Given the description of an element on the screen output the (x, y) to click on. 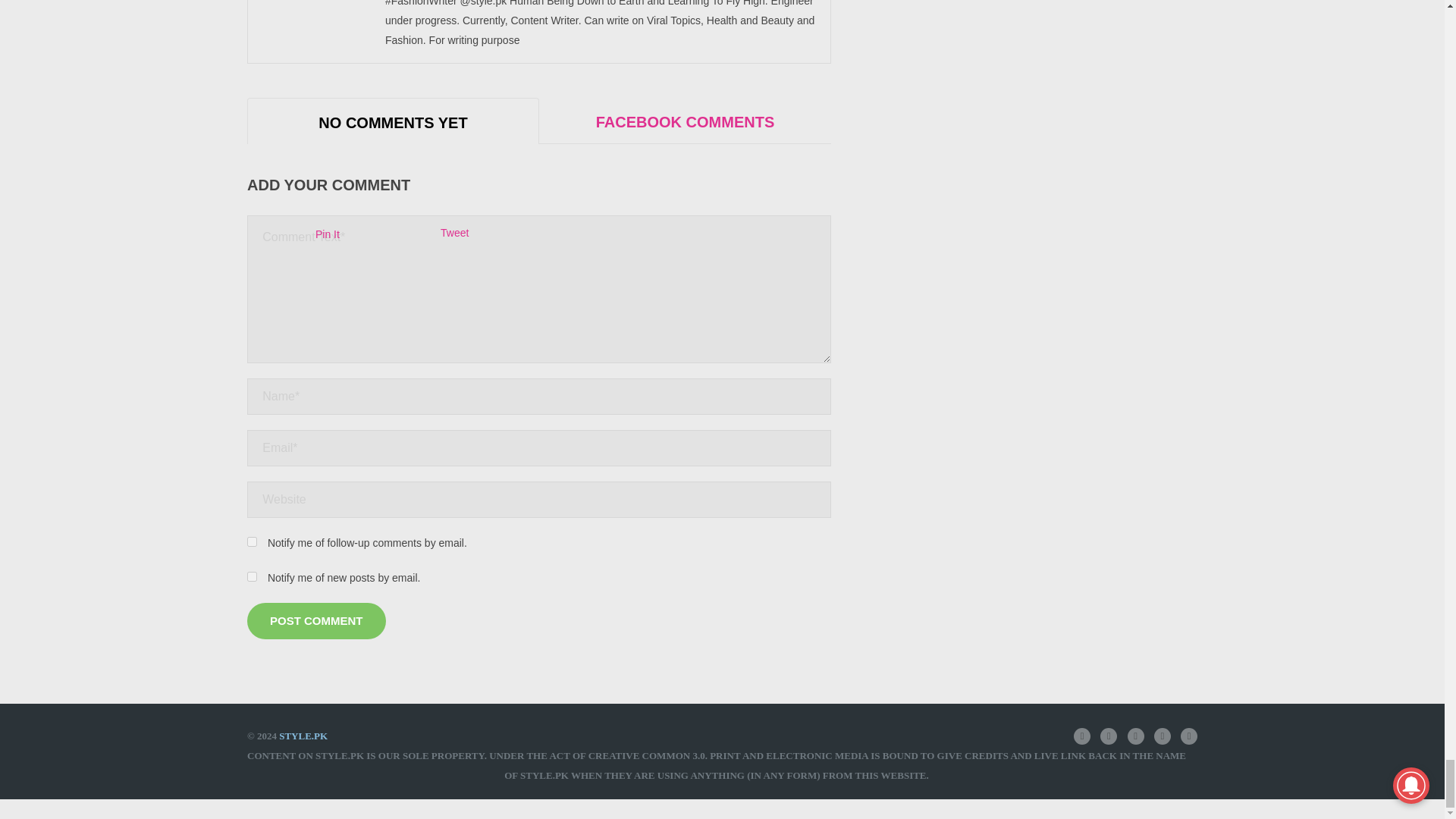
subscribe (252, 576)
subscribe (252, 542)
Post Comment (316, 620)
